Given the description of an element on the screen output the (x, y) to click on. 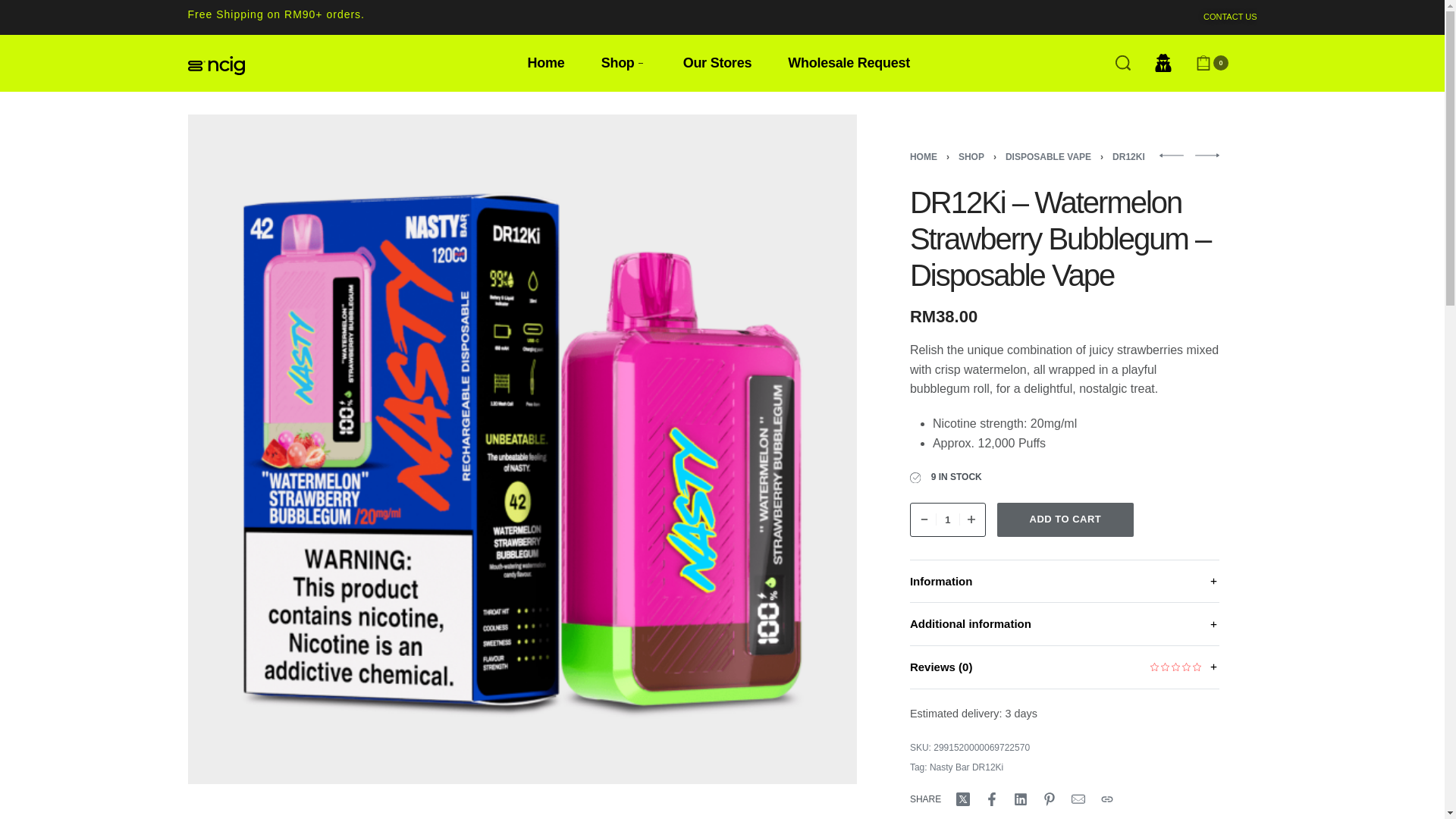
Our Stores (717, 63)
1 (947, 519)
Wholesale Request (848, 63)
DR12Ki - Strawberry Lychee - Disposable Vape (1170, 155)
CONTACT US (1230, 17)
Home (545, 63)
Shop (623, 63)
DR12Ki - Strawberry Cheesecake - Disposable Vape (1207, 155)
